Given the description of an element on the screen output the (x, y) to click on. 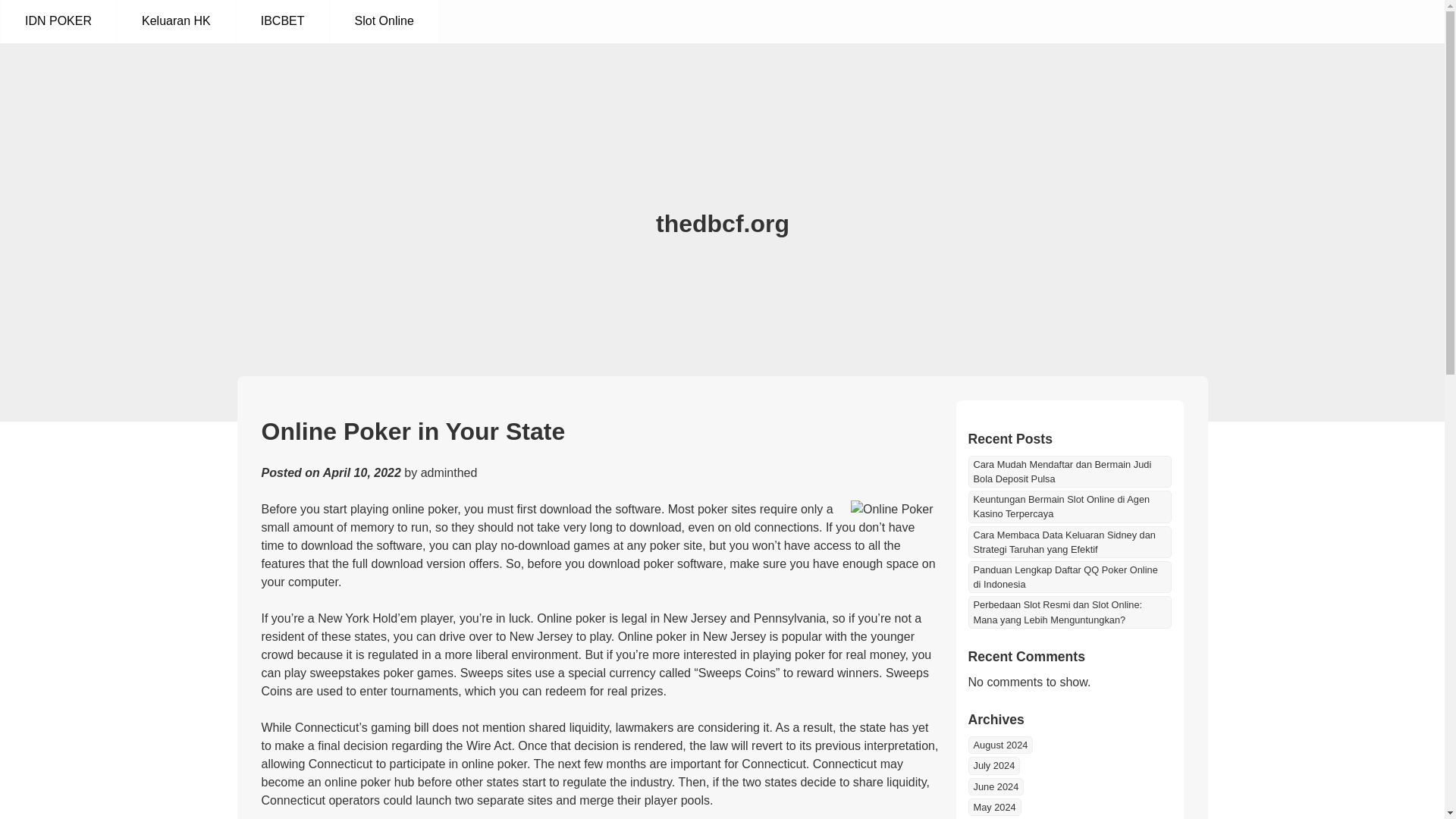
Slot Online (384, 21)
IBCBET (282, 21)
May 2024 (994, 806)
July 2024 (994, 764)
August 2024 (1000, 744)
Keluaran HK (175, 21)
adminthed (448, 472)
IDN POKER (58, 21)
April 10, 2022 (362, 472)
